Given the description of an element on the screen output the (x, y) to click on. 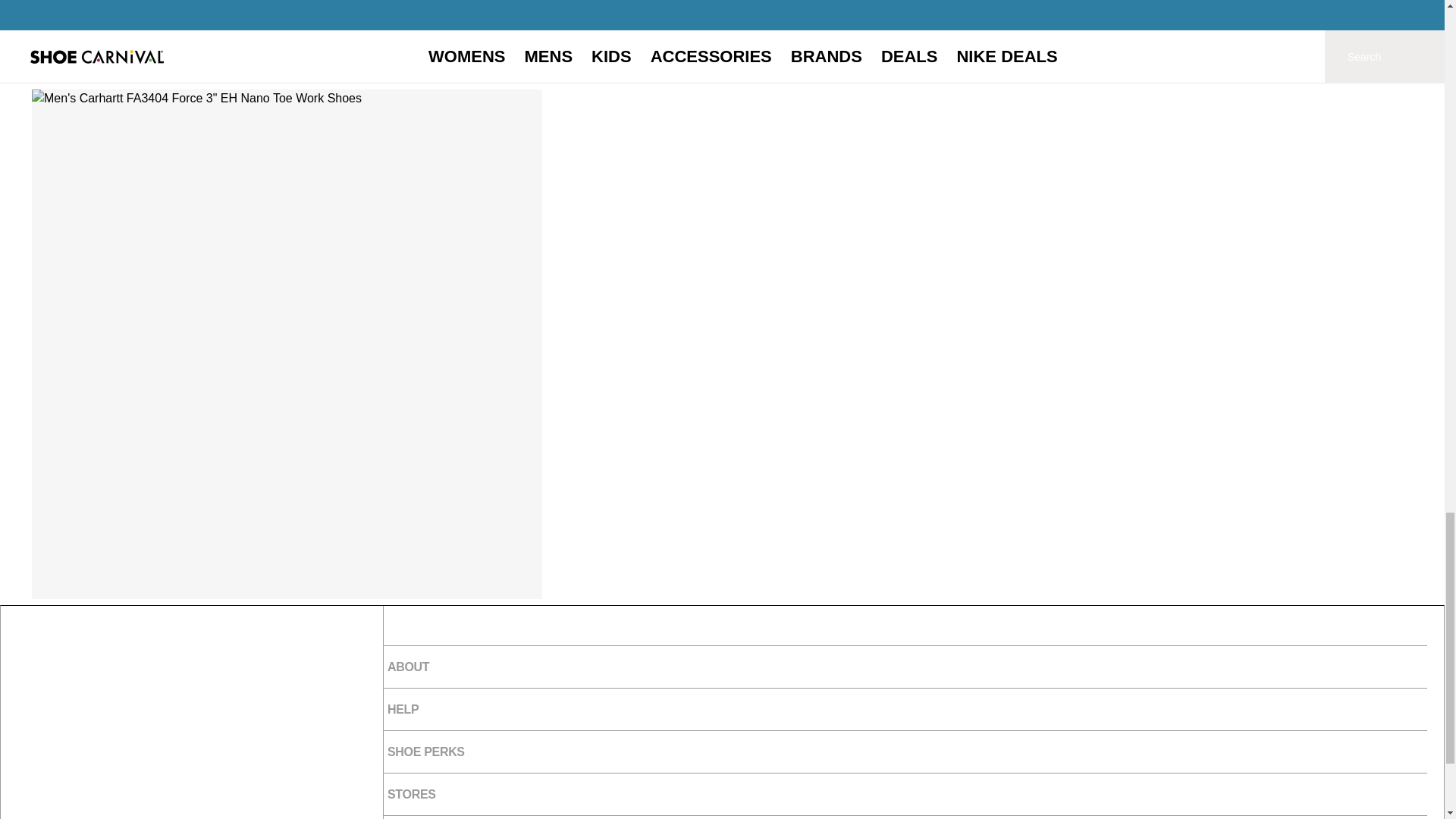
ABOUT (905, 666)
